Given the description of an element on the screen output the (x, y) to click on. 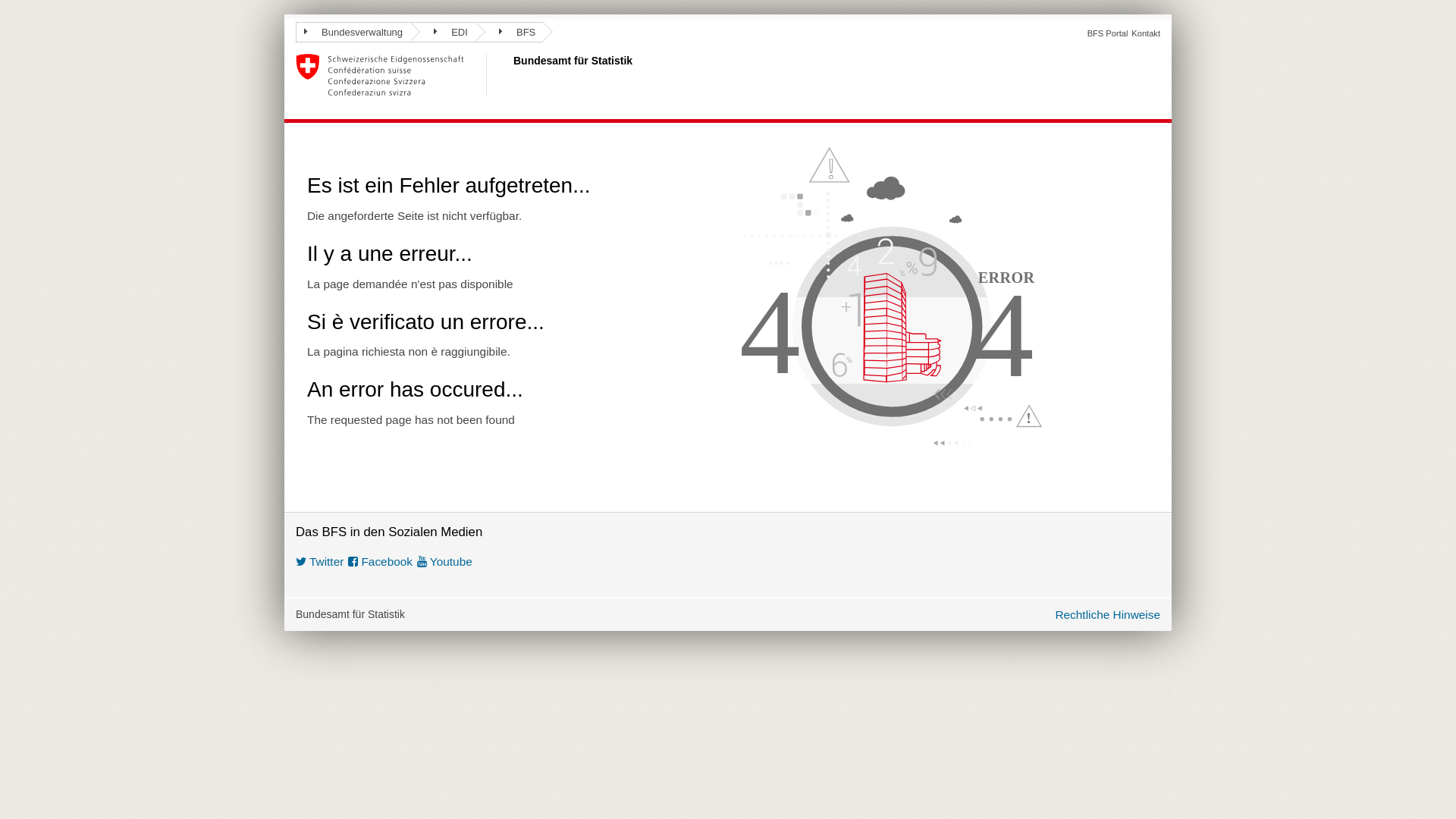
BFS Element type: text (508, 31)
Rechtliche Hinweise Element type: text (1107, 614)
Twitter Element type: text (319, 561)
Youtube Element type: text (444, 561)
EDI Element type: text (442, 31)
Facebook Element type: text (380, 561)
Bundesverwaltung Element type: text (352, 31)
Kontakt Element type: text (1145, 32)
BFS Portal Element type: text (1107, 32)
